Given the description of an element on the screen output the (x, y) to click on. 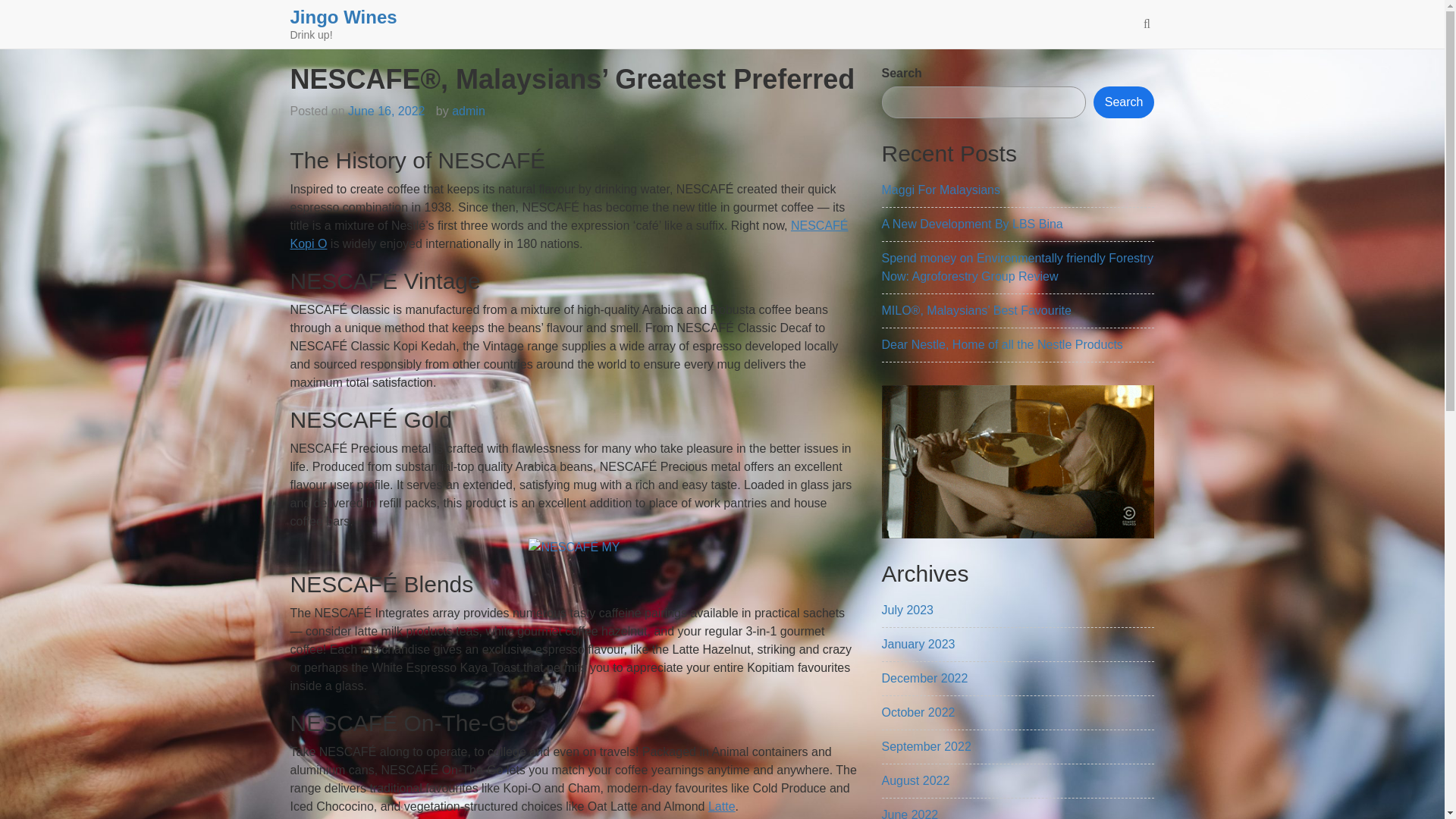
Dear Nestle, Home of all the Nestle Products (1001, 344)
October 2022 (917, 712)
January 2023 (917, 644)
admin (467, 110)
August 2022 (914, 780)
December 2022 (924, 677)
July 2023 (906, 609)
Search (1123, 101)
June 16, 2022 (386, 110)
Latte (721, 806)
June 2022 (908, 813)
Jingo Wines (342, 16)
September 2022 (925, 746)
Maggi For Malaysians (940, 189)
